Given the description of an element on the screen output the (x, y) to click on. 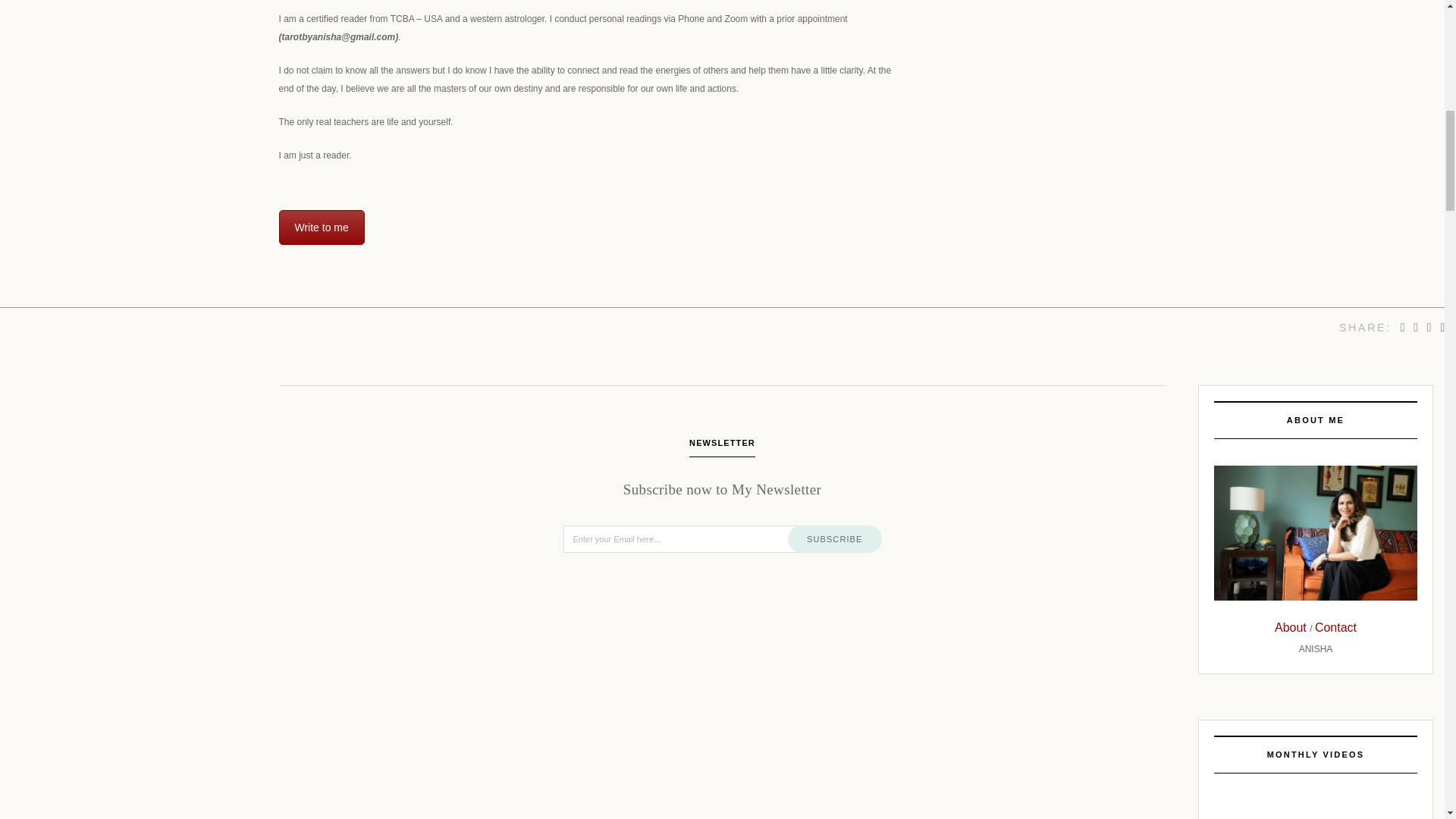
About (1291, 626)
Write to me (322, 226)
Contact (1335, 626)
